Given the description of an element on the screen output the (x, y) to click on. 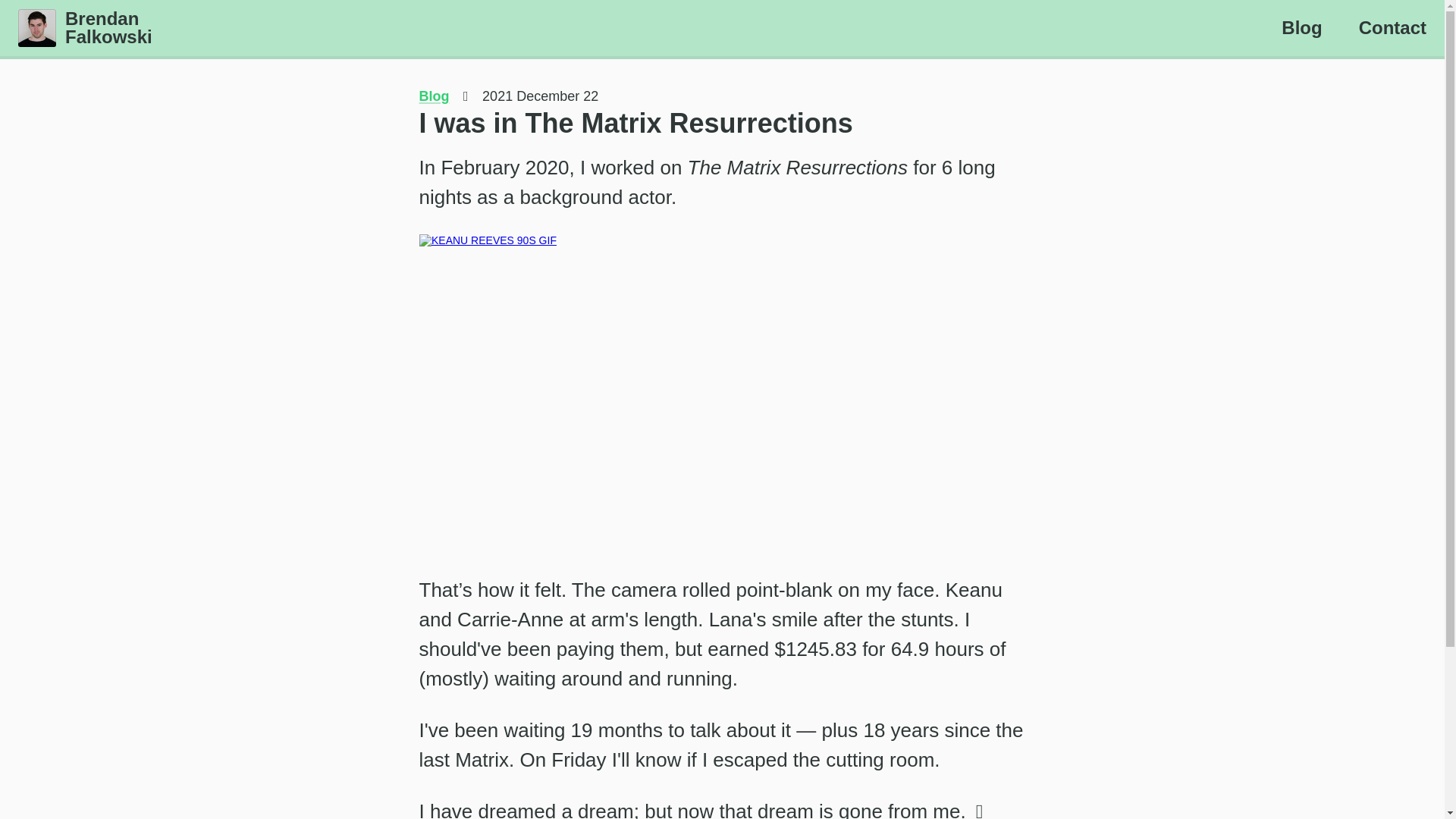
Contact (84, 27)
Blog (1392, 27)
Blog (433, 96)
